Given the description of an element on the screen output the (x, y) to click on. 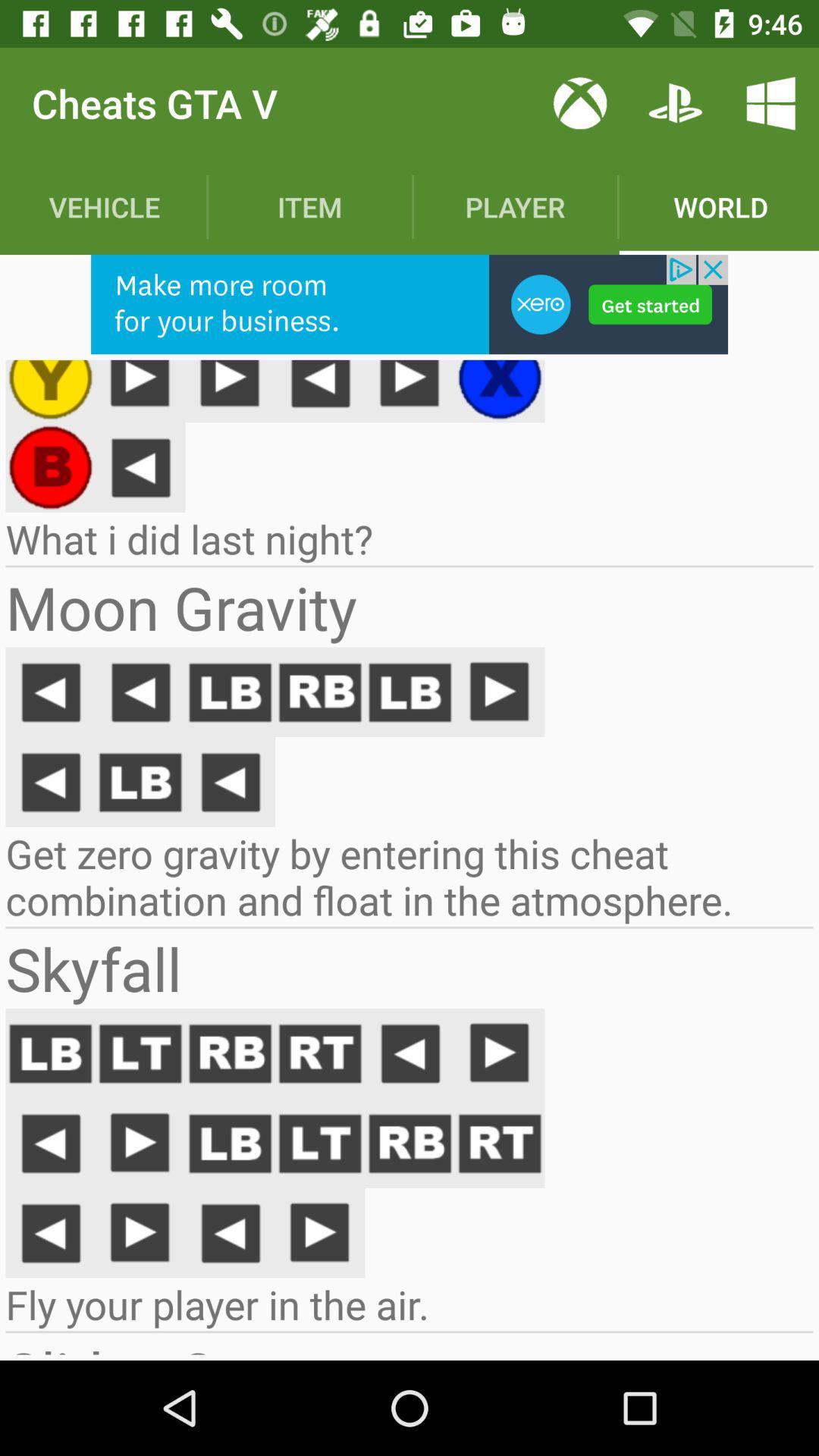
advertisement option (409, 304)
